Given the description of an element on the screen output the (x, y) to click on. 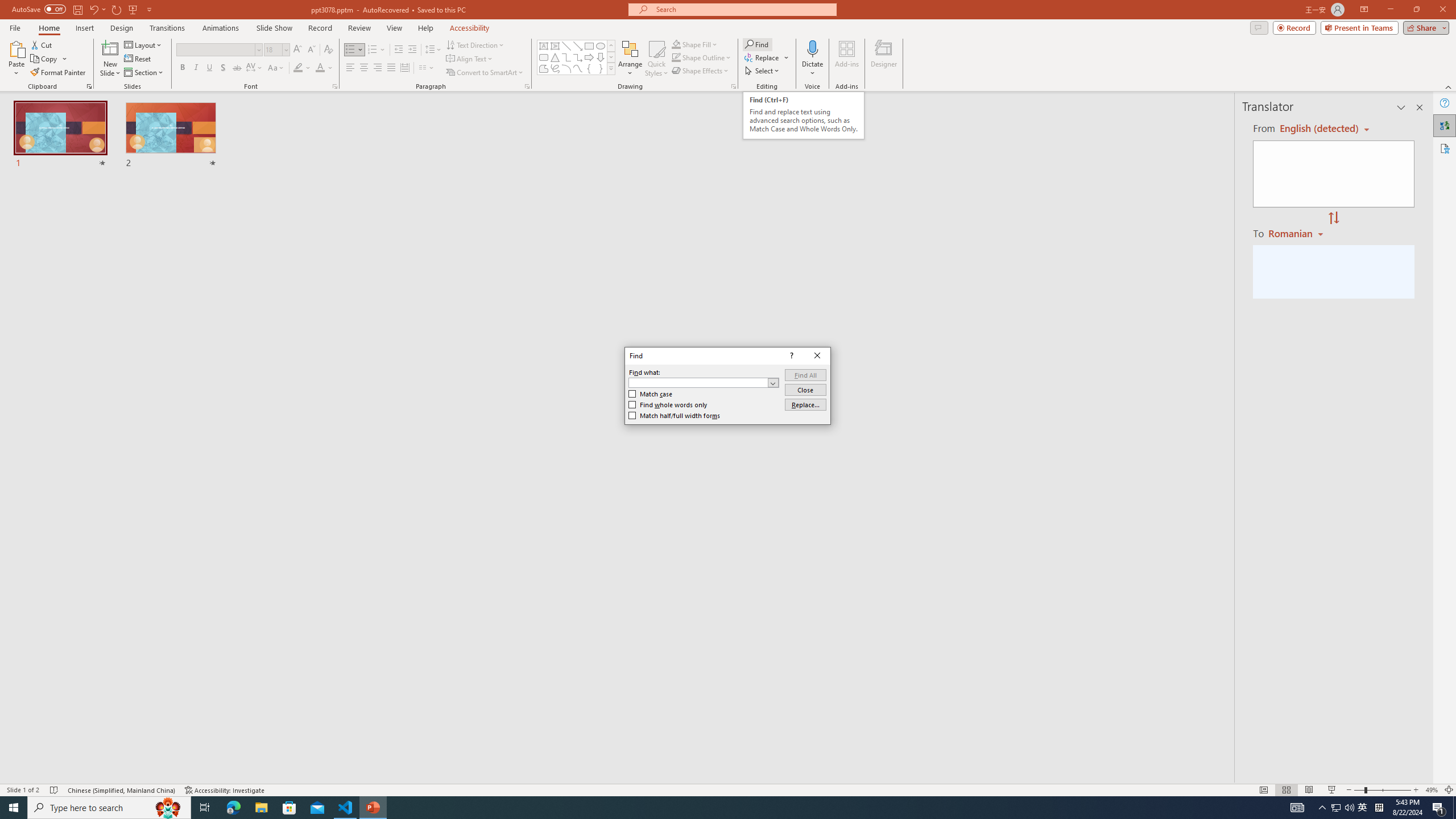
Romanian (1296, 232)
